Given the description of an element on the screen output the (x, y) to click on. 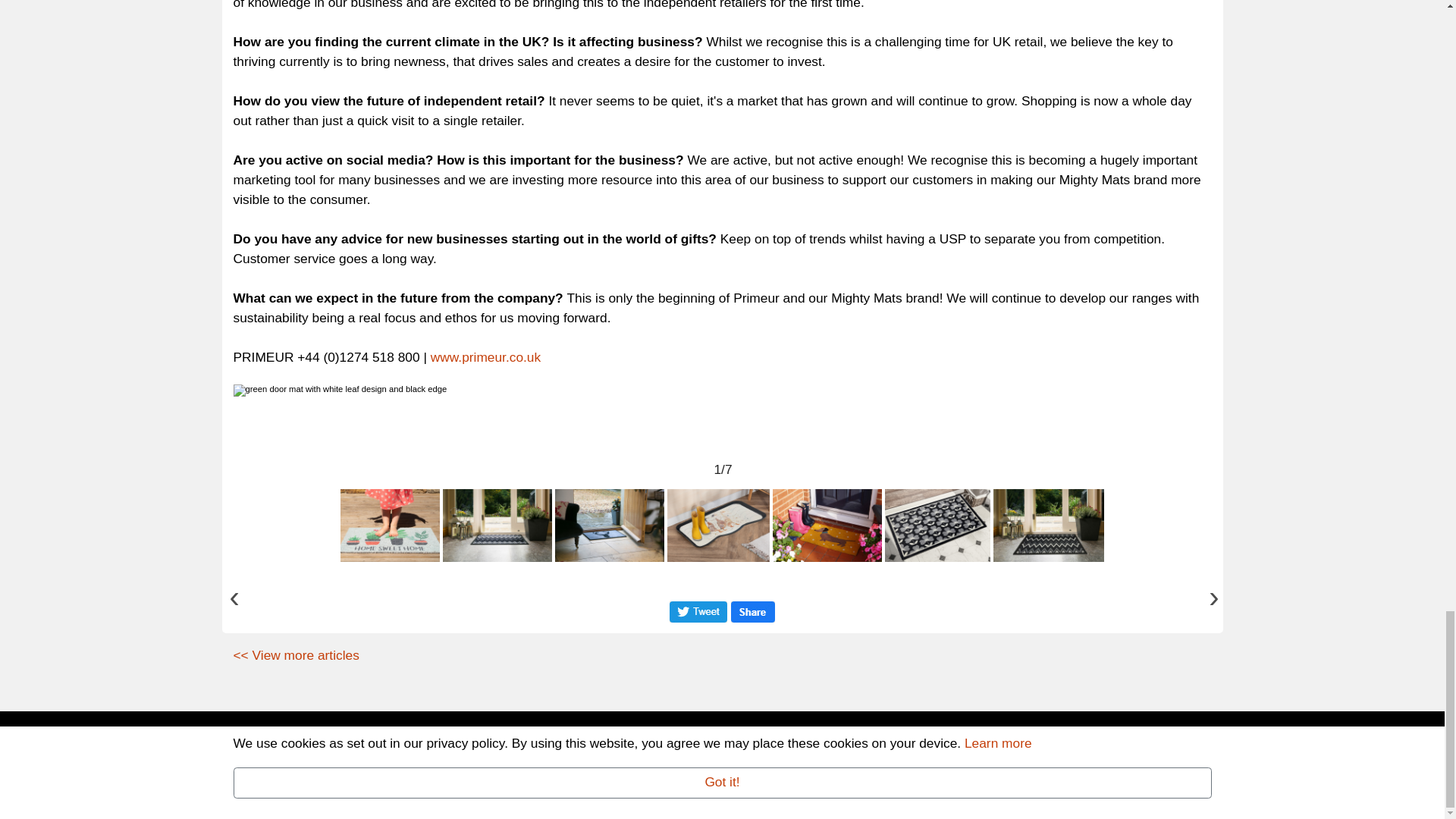
Visit the Ellis Media and Events Ltd website (353, 794)
Visit the Ellis Media and Events Ltd website (1139, 744)
View more articles (295, 654)
Email Ellis Media and Events Ltd (533, 774)
